Given the description of an element on the screen output the (x, y) to click on. 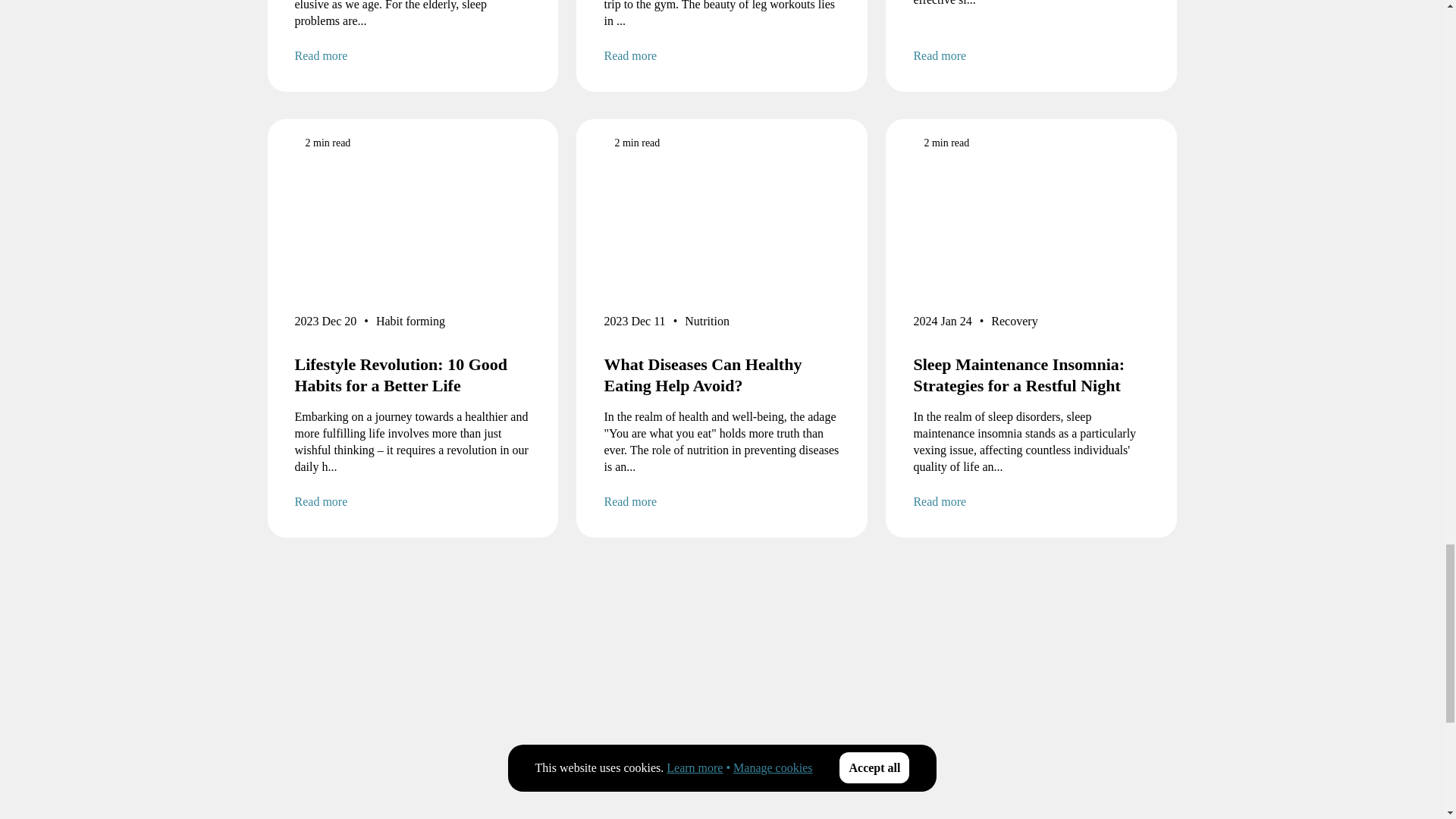
Read more (1031, 55)
Read more (412, 55)
Read more (722, 55)
Habit forming (410, 323)
Lifestyle Revolution: 10 Good Habits for a Better Life (412, 374)
Read more (412, 501)
